Given the description of an element on the screen output the (x, y) to click on. 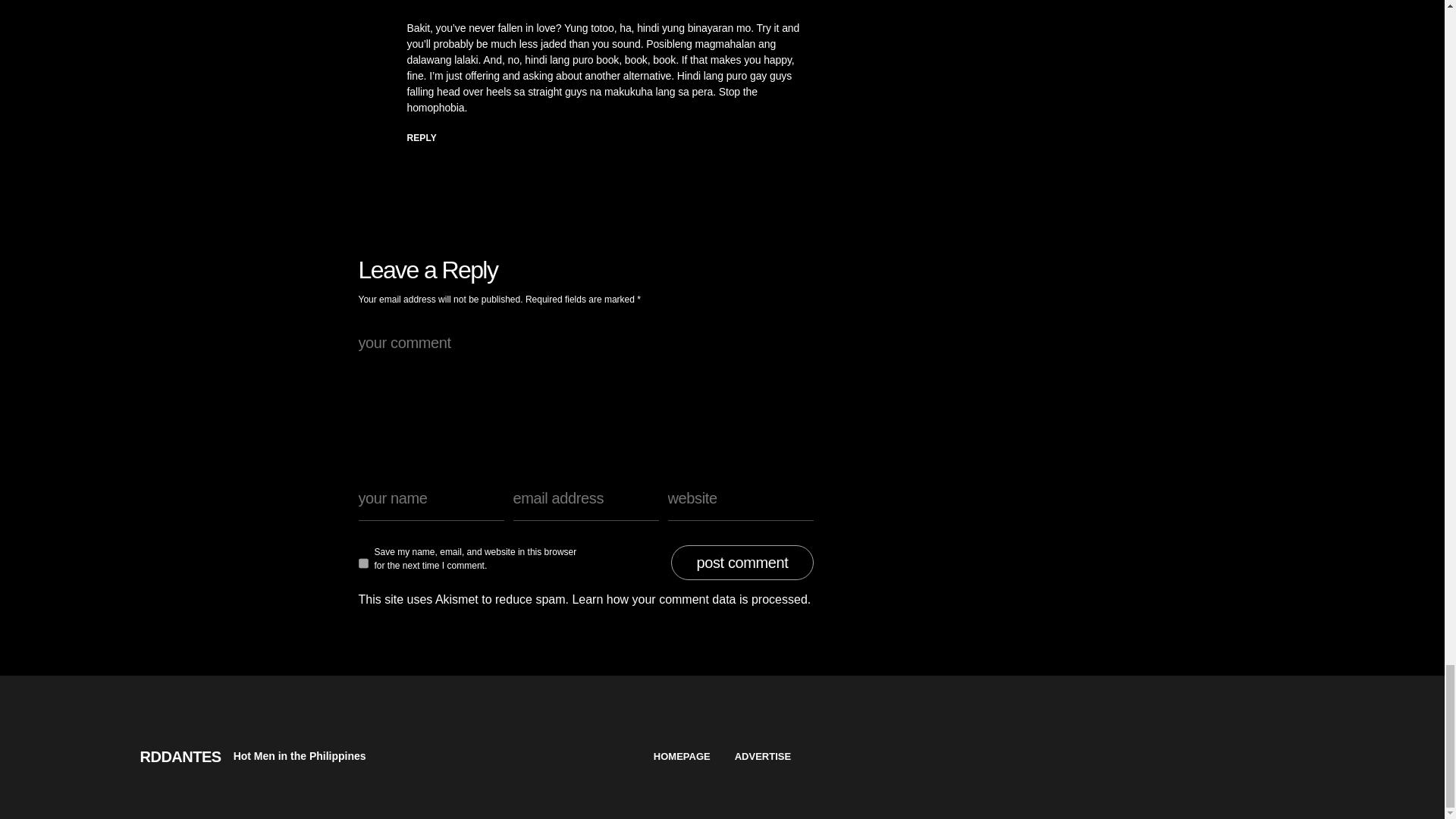
Post Comment (741, 562)
